Given the description of an element on the screen output the (x, y) to click on. 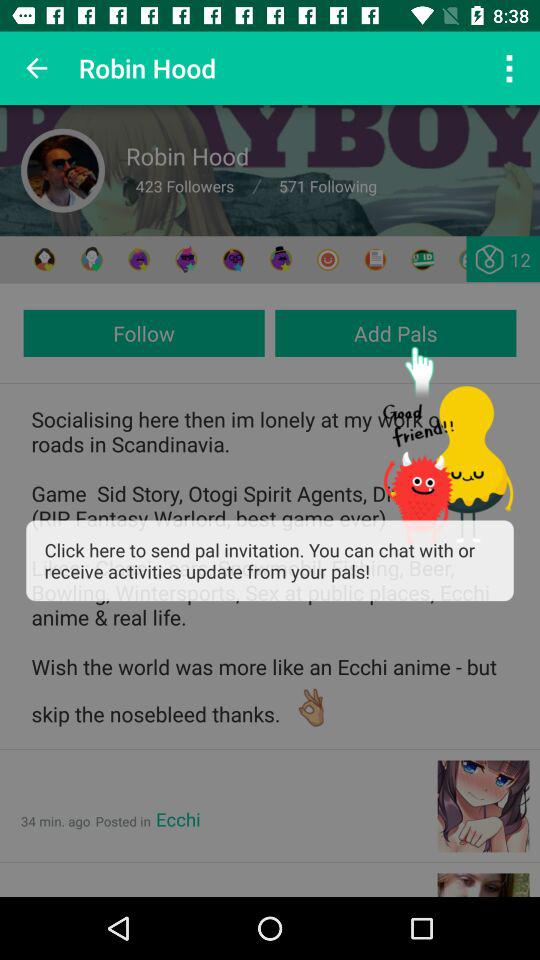
chat with others (91, 259)
